Given the description of an element on the screen output the (x, y) to click on. 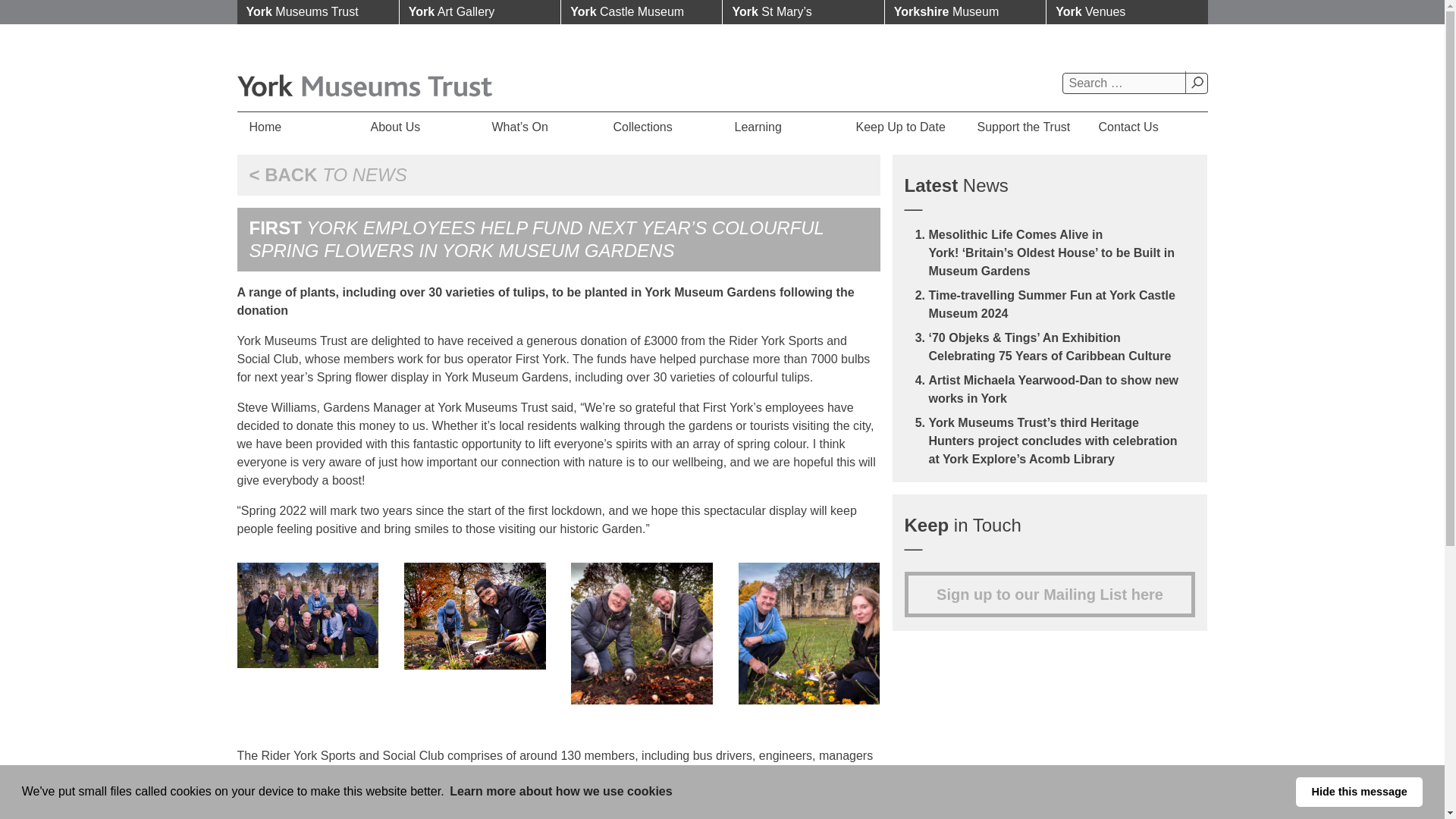
York Museums Trust (316, 12)
About Us (418, 127)
York Venues (1126, 12)
Yorkshire Museum (965, 12)
York Castle Museum (641, 12)
York Art Gallery (479, 12)
Home (296, 127)
